Given the description of an element on the screen output the (x, y) to click on. 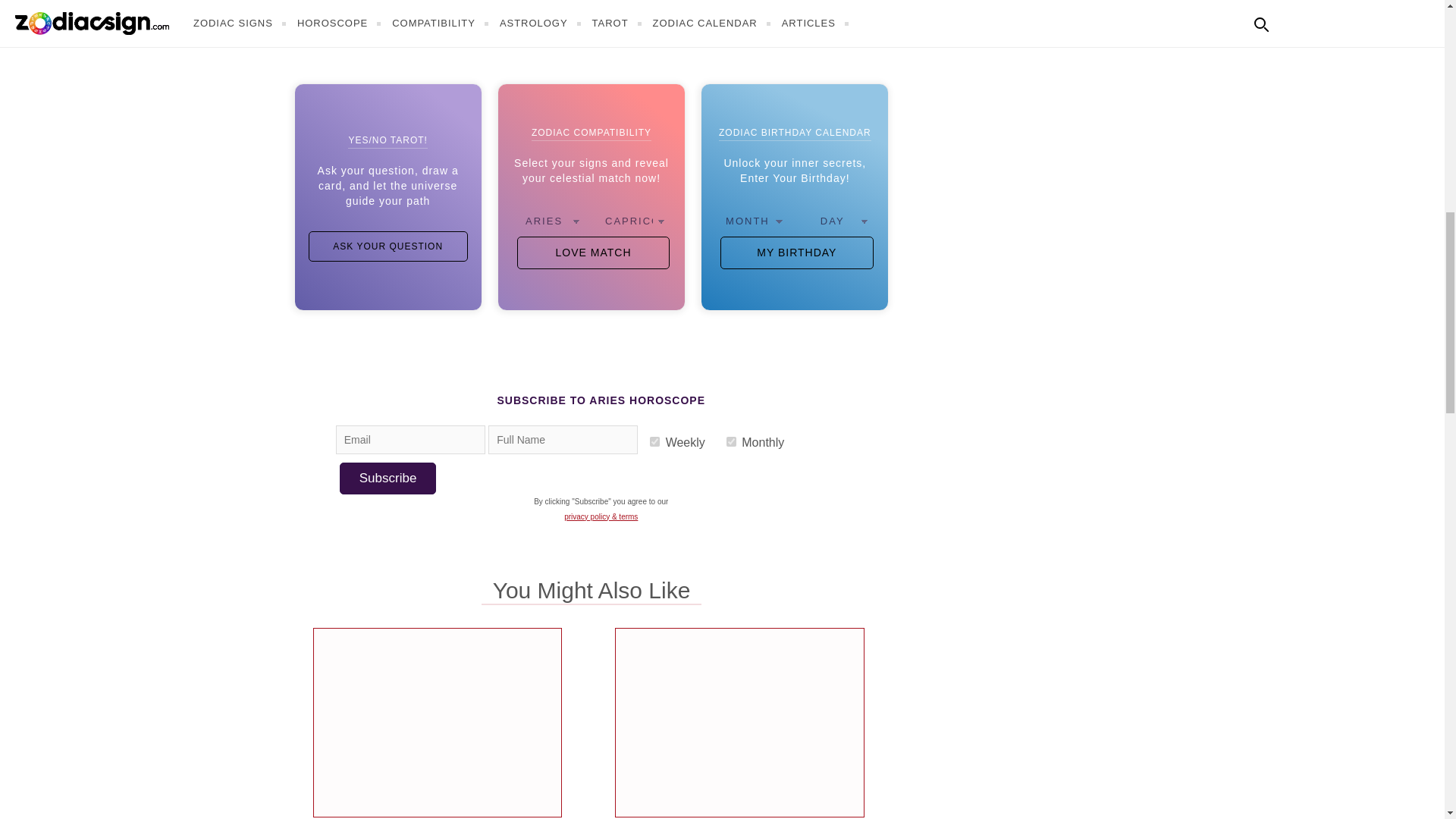
monthly (731, 441)
weekly (654, 441)
